Given the description of an element on the screen output the (x, y) to click on. 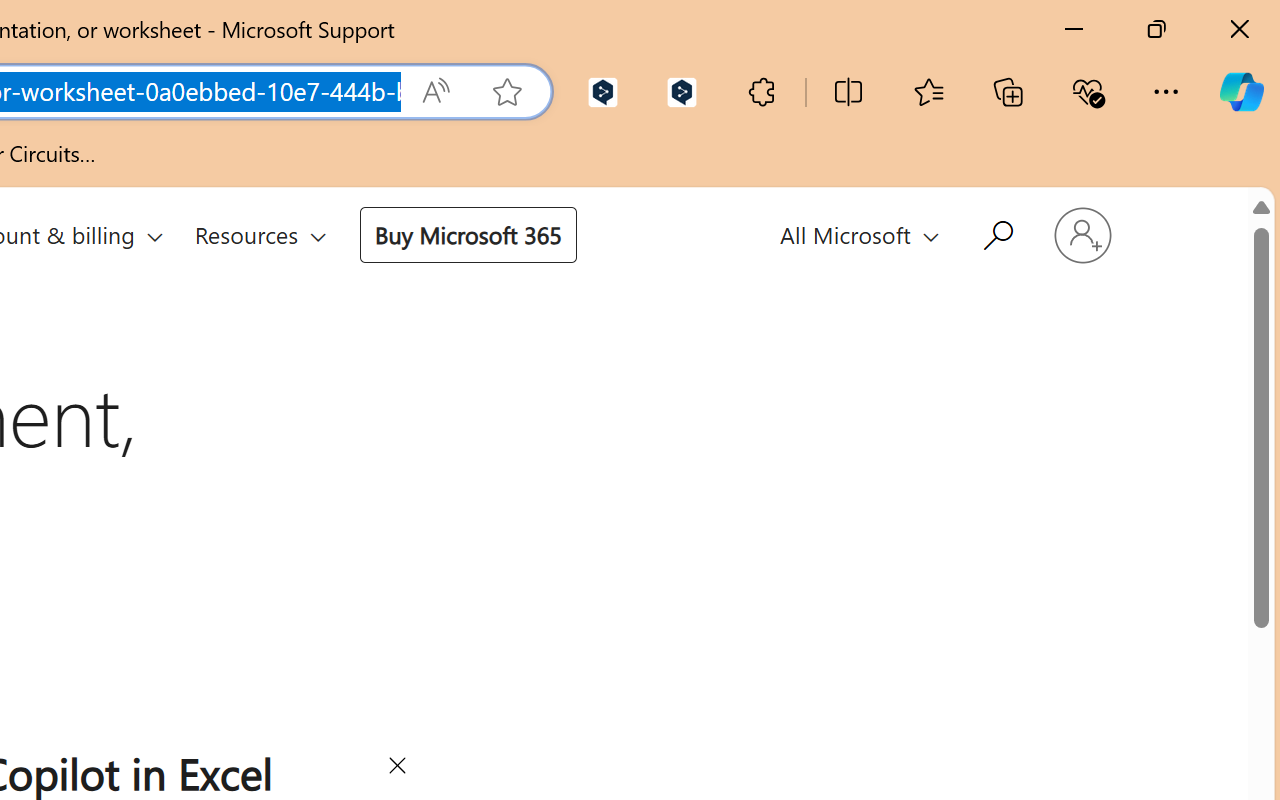
Buy Microsoft 365 (467, 234)
Close Ad (396, 769)
Sign in to your account (1082, 235)
Search for help (995, 232)
Copilot (Ctrl+Shift+.) (1241, 91)
